Given the description of an element on the screen output the (x, y) to click on. 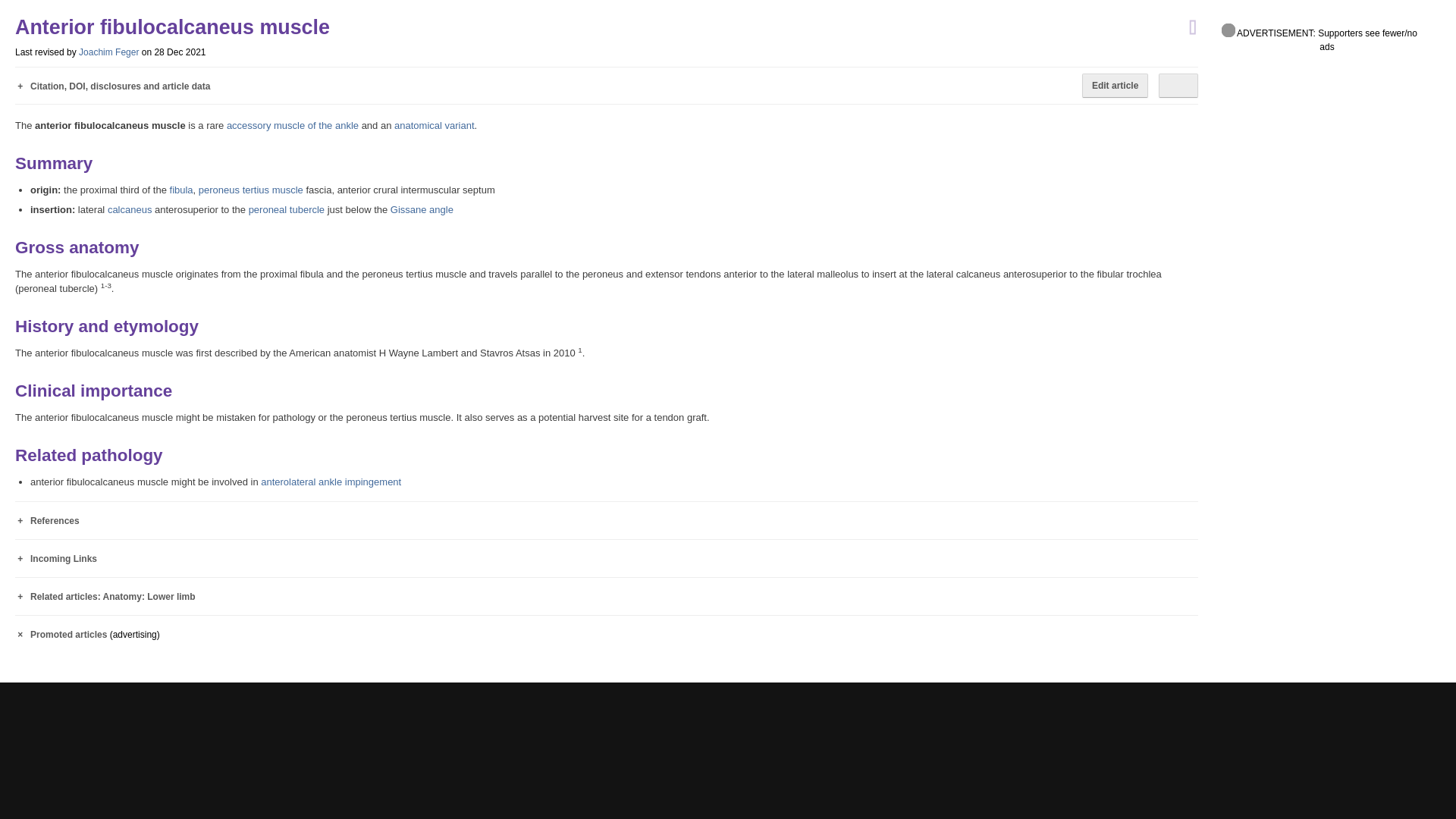
Joachim Feger (108, 51)
fibula (181, 189)
Gissane angle (421, 209)
Edit article (1114, 85)
accessory muscle of the ankle (292, 125)
calcaneus (129, 209)
anatomical variant (434, 125)
peroneus tertius muscle (250, 189)
peroneal tubercle (286, 209)
anterolateral ankle impingement (330, 481)
